Given the description of an element on the screen output the (x, y) to click on. 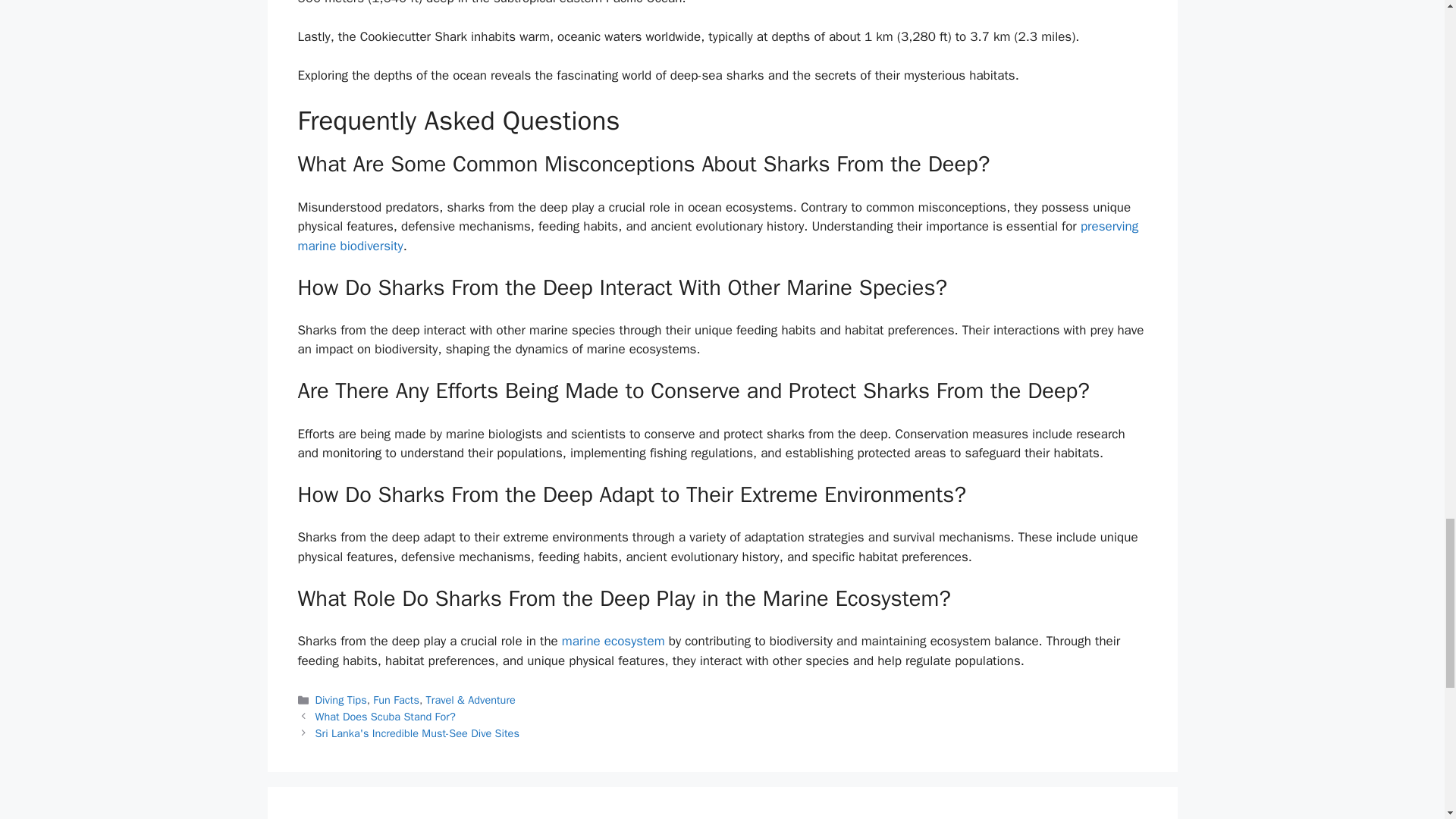
preserving marine biodiversity (717, 235)
Diving Tips (340, 699)
Sri Lanka's Incredible Must-See Dive Sites (417, 733)
What Does Scuba Stand For? (385, 716)
marine ecosystem (613, 641)
Fun Facts (395, 699)
